Given the description of an element on the screen output the (x, y) to click on. 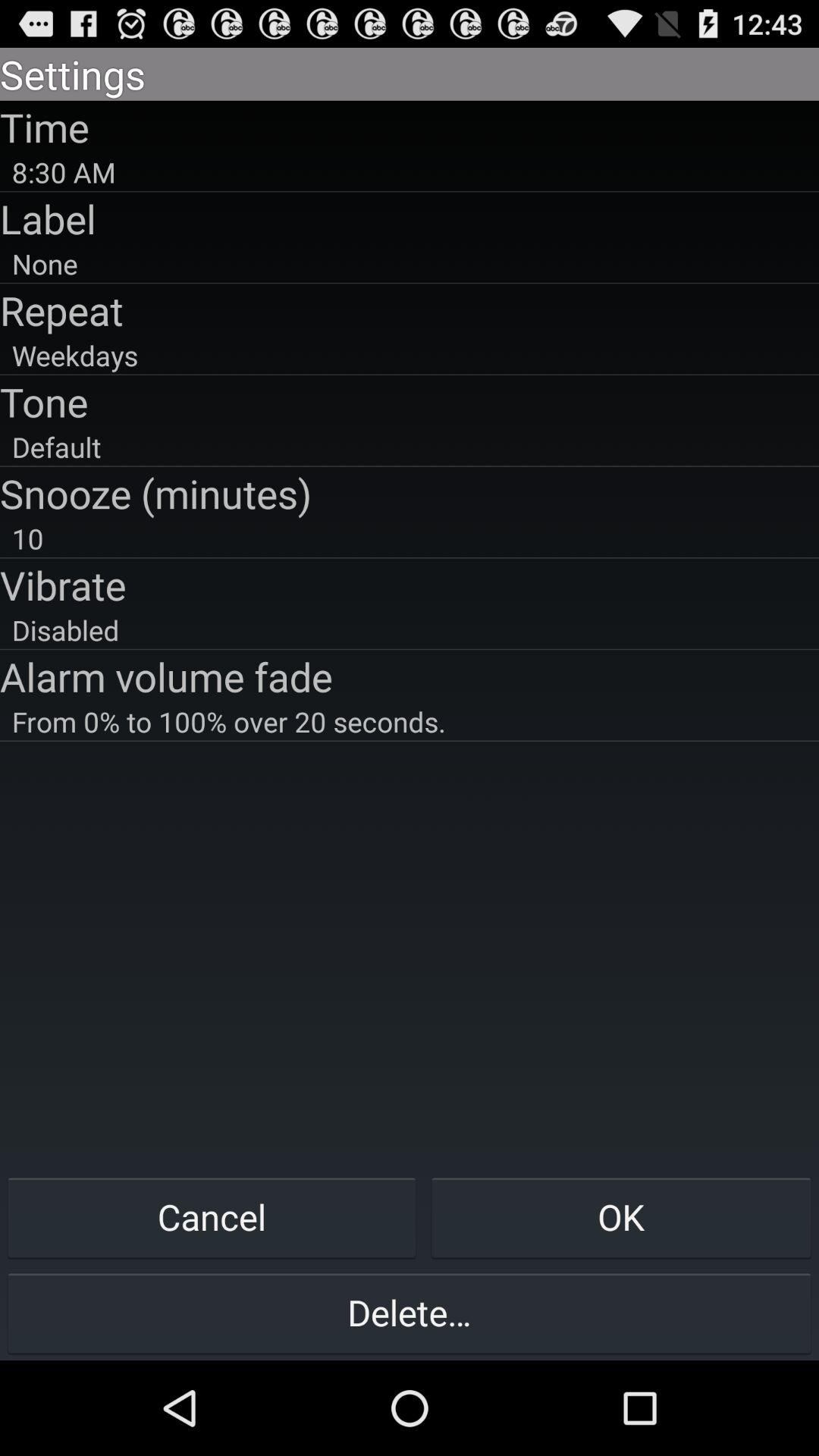
select snooze (minutes) icon (409, 492)
